Given the description of an element on the screen output the (x, y) to click on. 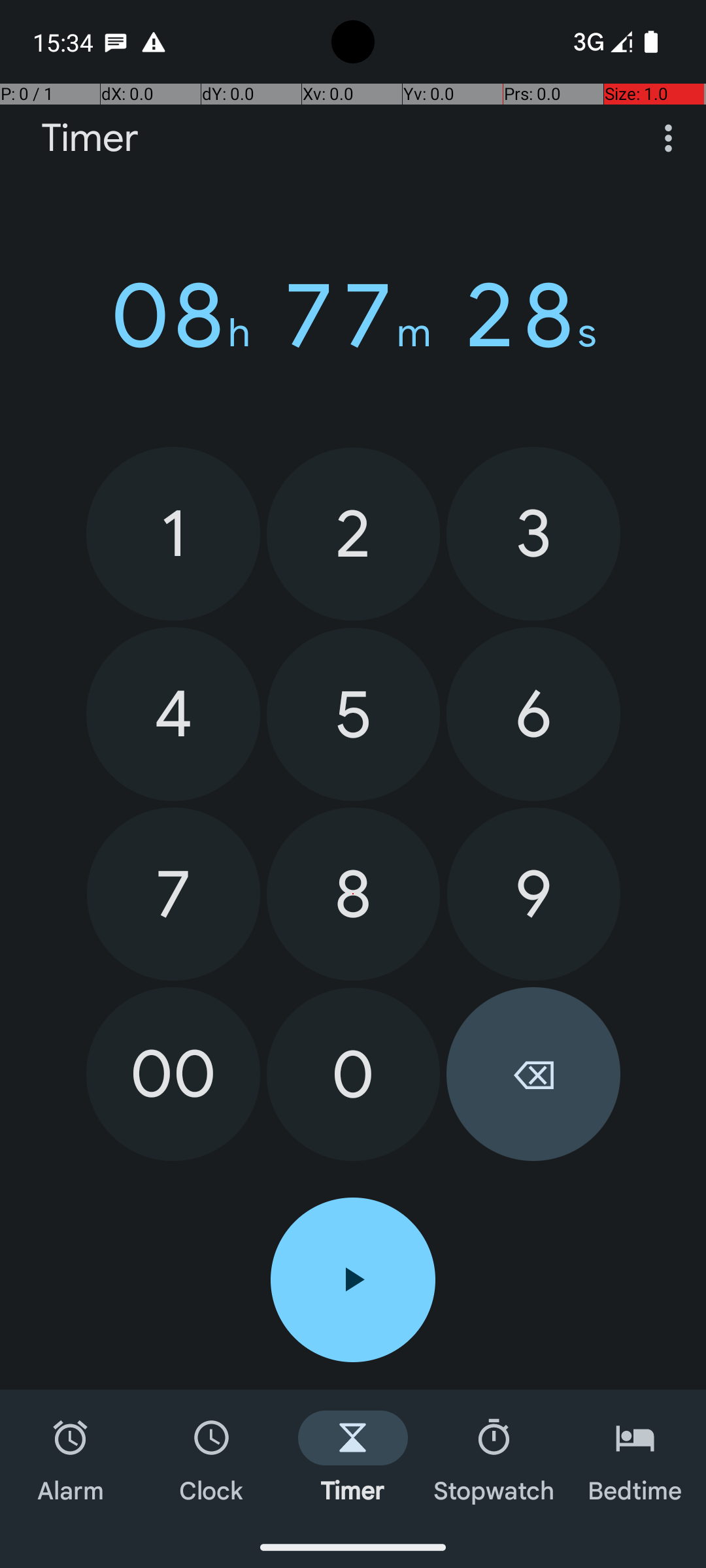
08h 77m 28s Element type: android.widget.TextView (353, 315)
